Given the description of an element on the screen output the (x, y) to click on. 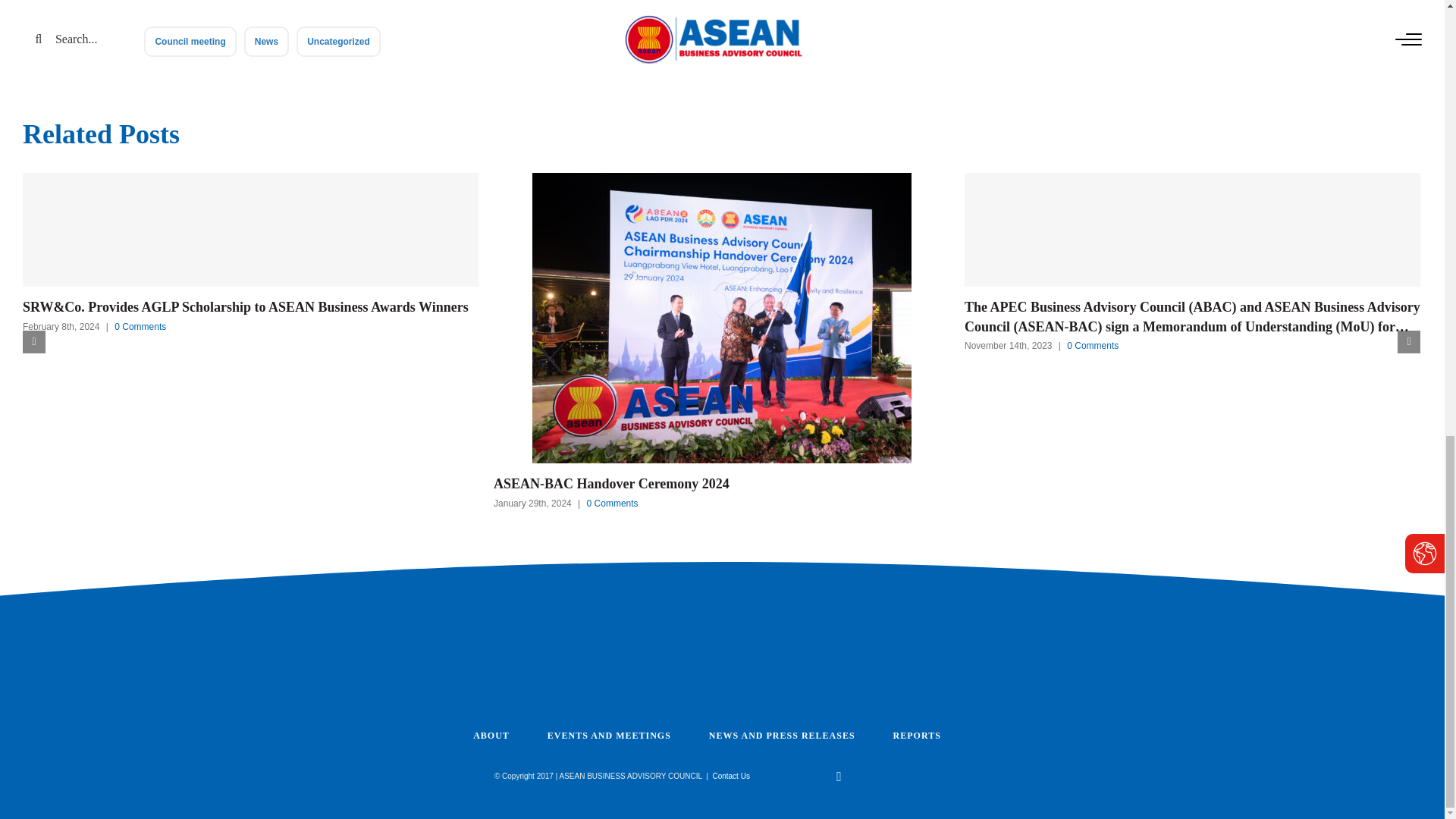
logo (721, 662)
ASEAN-BAC Handover Ceremony 2024 (721, 484)
